Given the description of an element on the screen output the (x, y) to click on. 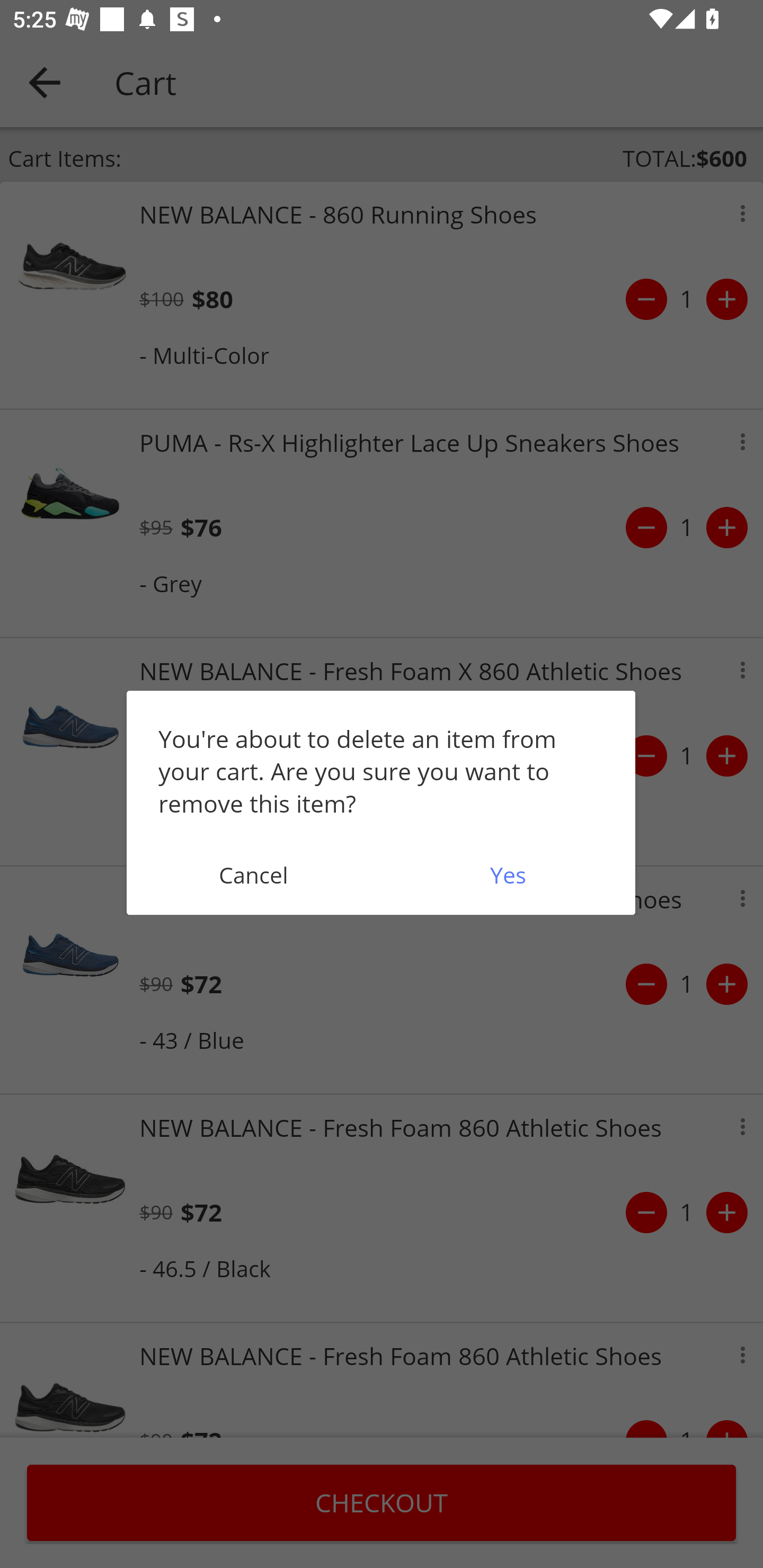
Cancel (253, 874)
Yes (507, 874)
